Given the description of an element on the screen output the (x, y) to click on. 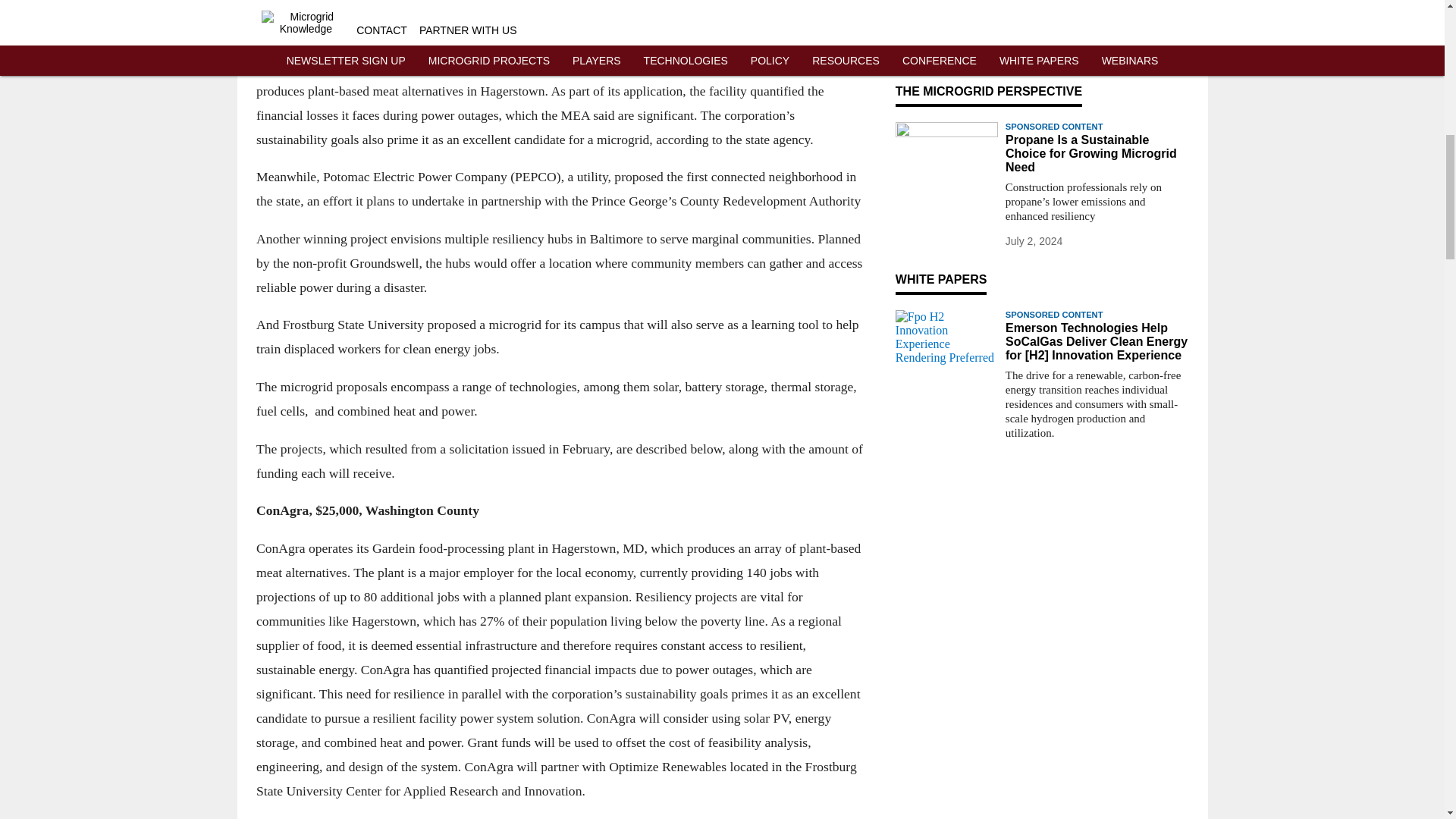
THE MICROGRID PERSPECTIVE (988, 91)
Fpo H2 Innovation Experience Rendering Preferred (946, 338)
